Given the description of an element on the screen output the (x, y) to click on. 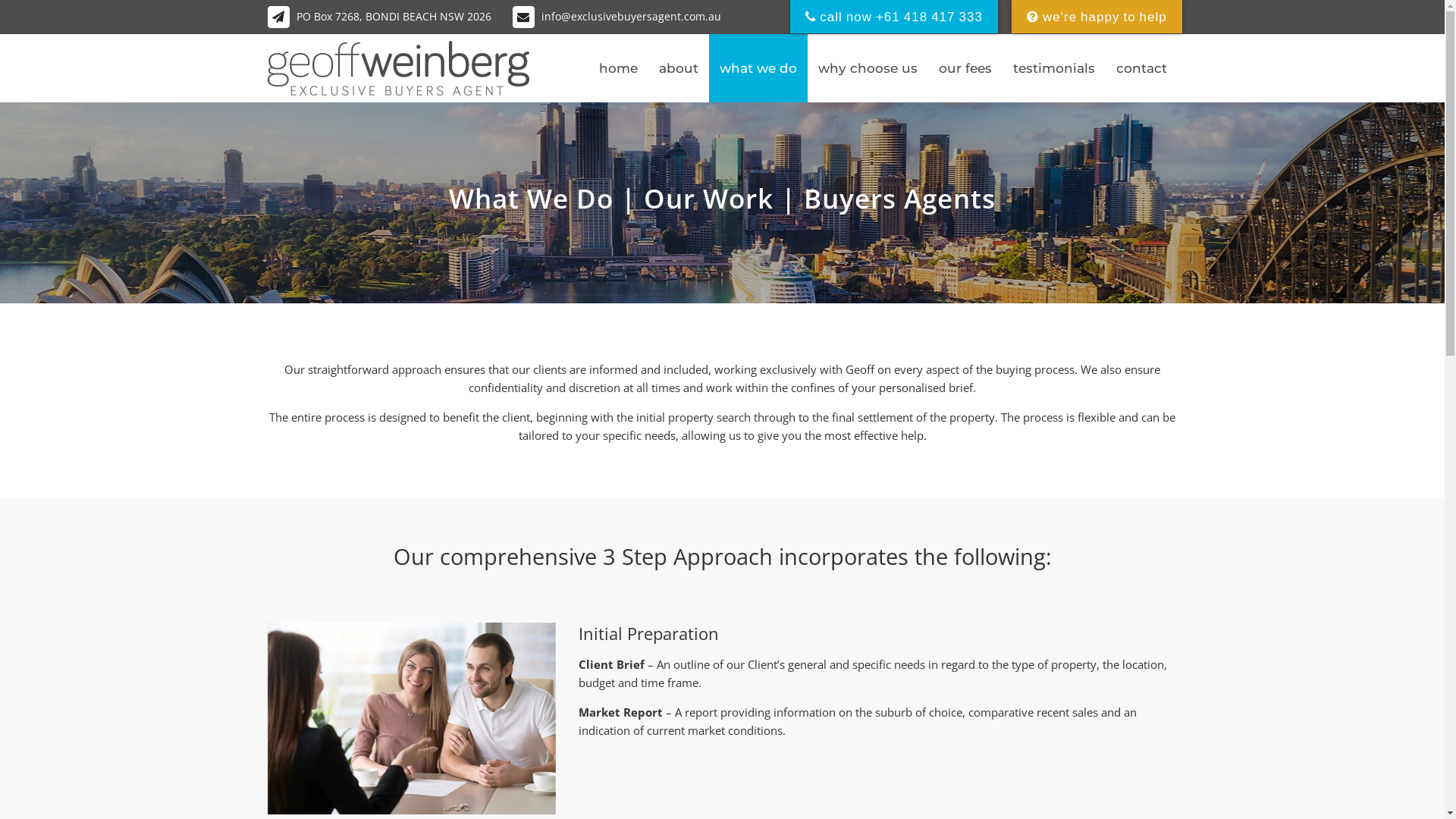
info@exclusivebuyersagent.com.au Element type: text (616, 16)
home Element type: text (618, 68)
testimonials Element type: text (1053, 68)
our fees Element type: text (965, 68)
what we do Element type: text (757, 68)
about Element type: text (677, 68)
why choose us Element type: text (866, 68)
contact Element type: text (1141, 68)
call now +61 418 417 333 Element type: text (893, 15)
